Given the description of an element on the screen output the (x, y) to click on. 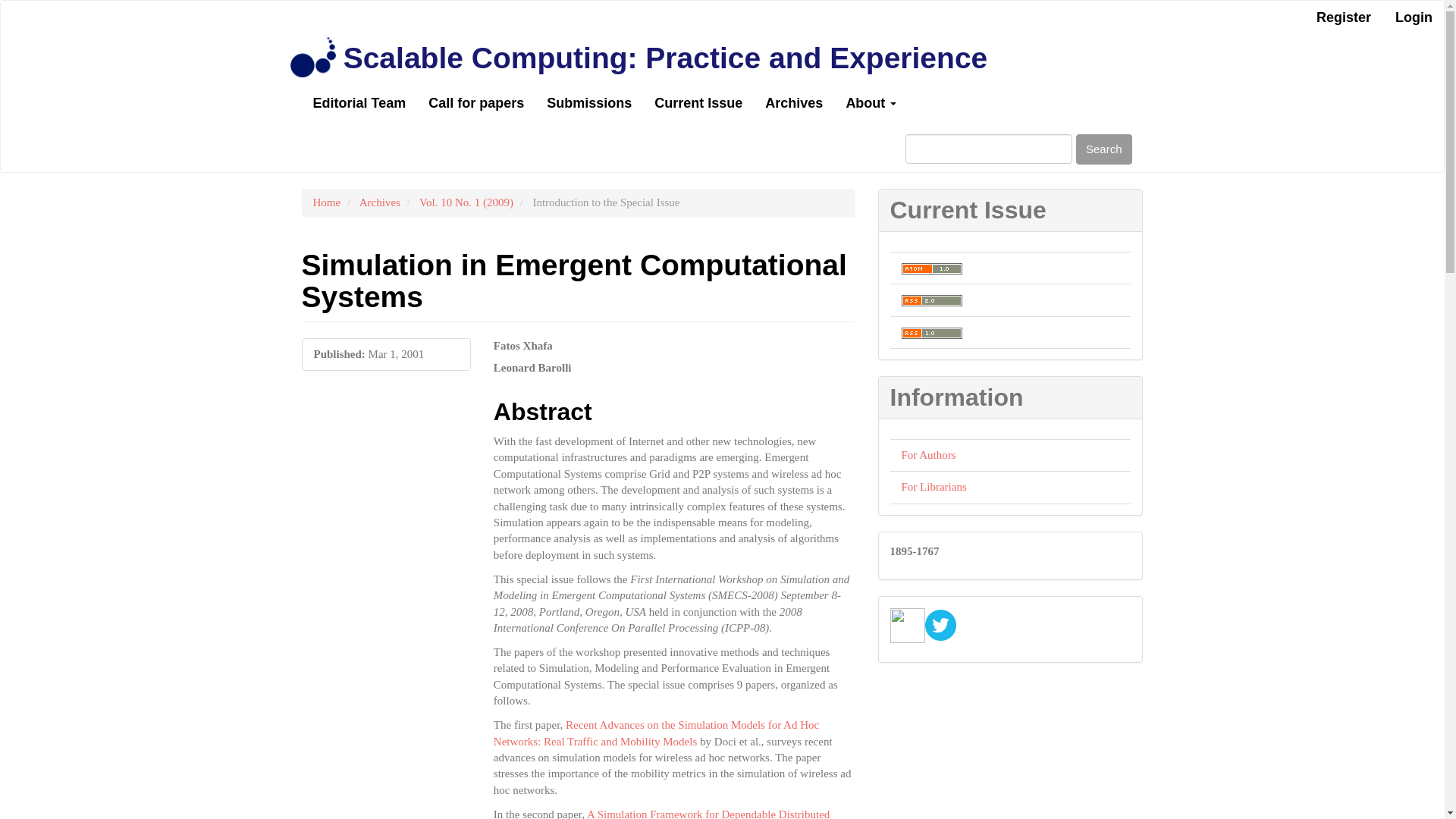
Register (1342, 18)
Home (326, 202)
A Simulation Framework for Dependable Distributed Systems, (661, 813)
About (870, 103)
Archives (379, 202)
Scalable Computing: Practice and Experience (664, 58)
Current Issue (698, 103)
Editorial Team (359, 103)
For Authors (928, 454)
Submissions (589, 103)
Archives (794, 103)
Search (1103, 148)
Call for papers (475, 103)
Login (1414, 18)
